Given the description of an element on the screen output the (x, y) to click on. 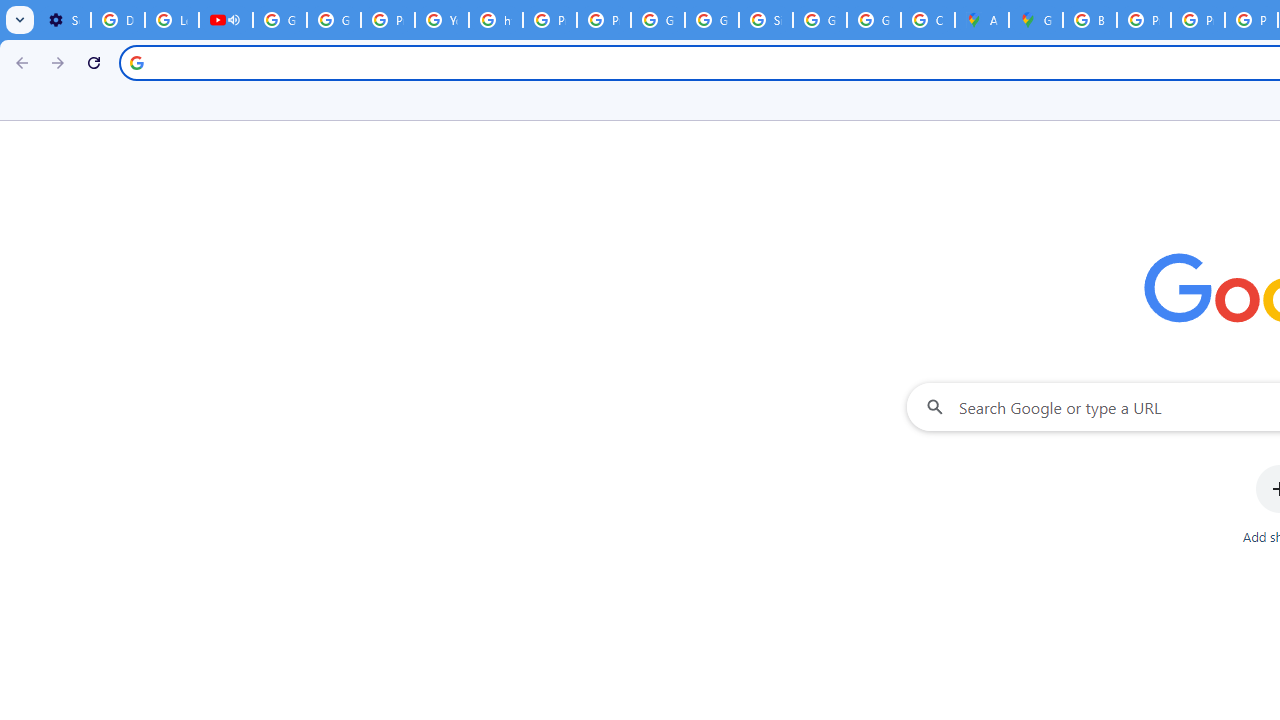
Settings - Customize profile (63, 20)
Sign in - Google Accounts (765, 20)
Blogger Policies and Guidelines - Transparency Center (1089, 20)
Google Account Help (280, 20)
Privacy Help Center - Policies Help (1197, 20)
Privacy Help Center - Policies Help (550, 20)
Privacy Help Center - Policies Help (1144, 20)
